Given the description of an element on the screen output the (x, y) to click on. 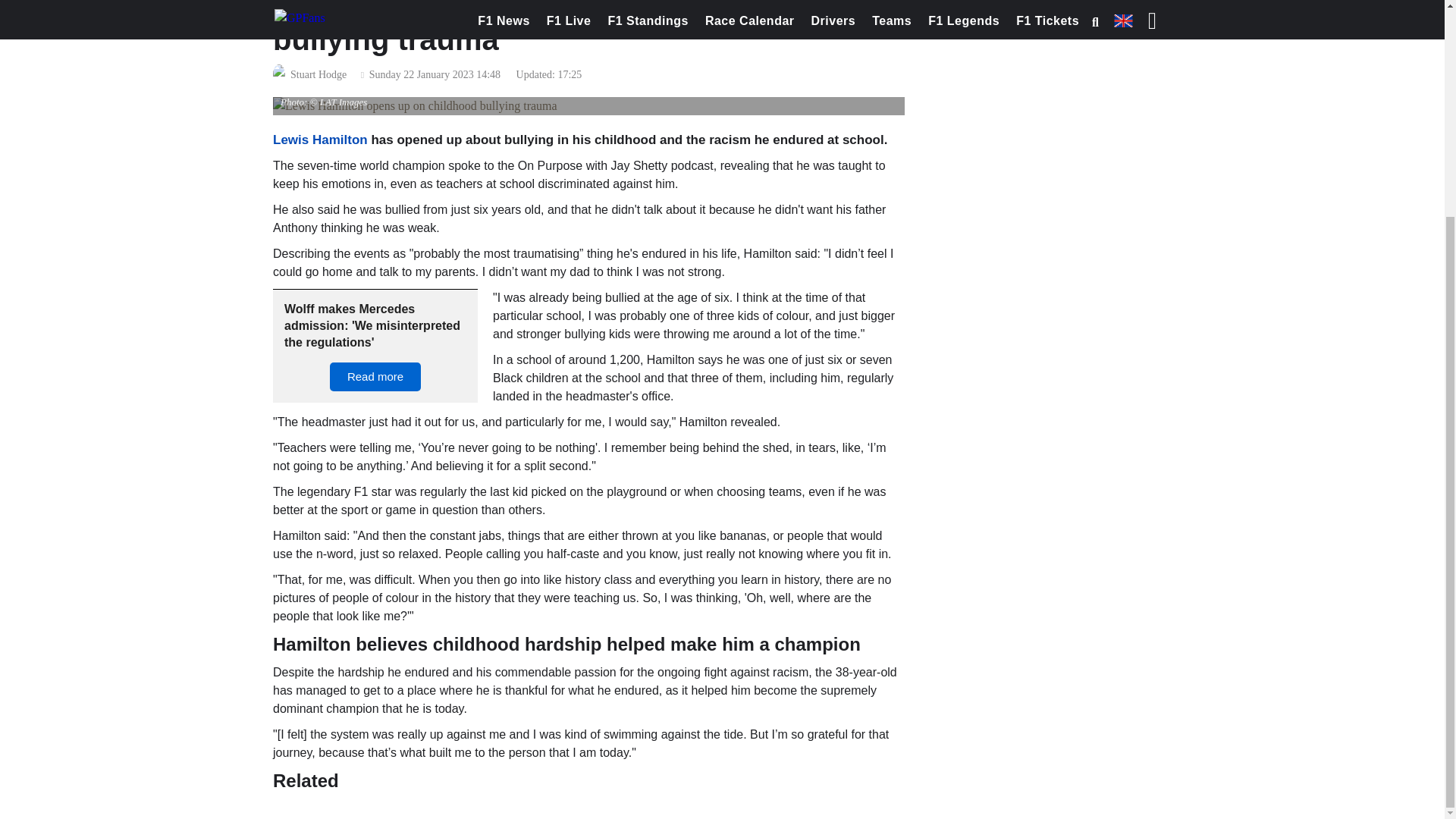
Lewis Hamilton (320, 139)
Stuart Hodge (317, 74)
